Given the description of an element on the screen output the (x, y) to click on. 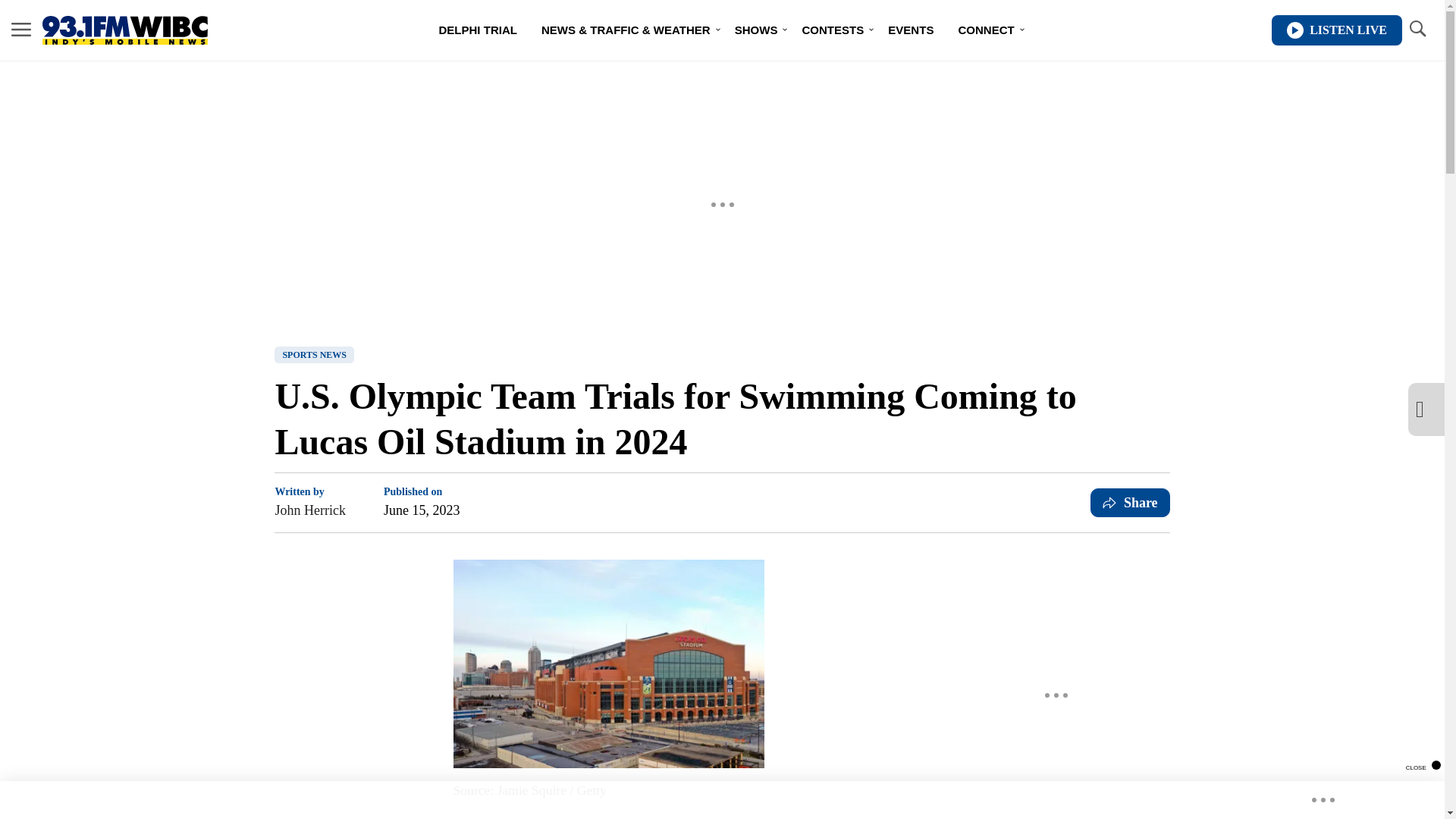
CONTESTS (832, 30)
EVENTS (910, 30)
CONNECT (985, 30)
MENU (20, 29)
MENU (20, 30)
SHOWS (756, 30)
DELPHI TRIAL (477, 30)
LISTEN LIVE (1336, 30)
TOGGLE SEARCH (1417, 28)
TOGGLE SEARCH (1417, 30)
